Given the description of an element on the screen output the (x, y) to click on. 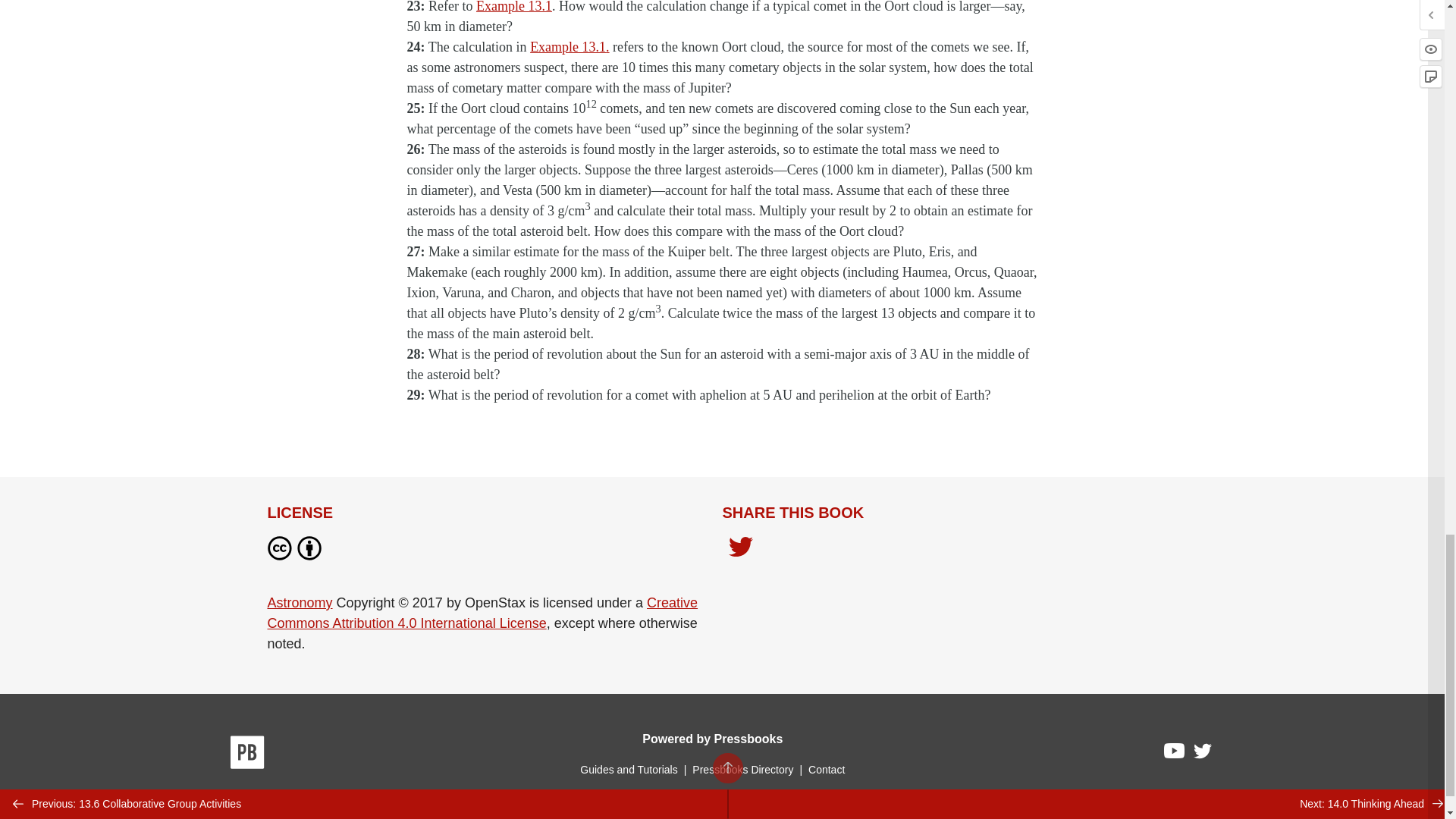
Pressbooks on YouTube (1174, 753)
. (607, 46)
Contact (826, 769)
Guides and Tutorials (627, 769)
Astronomy (298, 602)
Share on Twitter (740, 550)
Pressbooks (247, 754)
Example 13.1 (513, 6)
Pressbooks on Twitter (1202, 754)
Share on Twitter (740, 548)
Powered by Pressbooks (712, 738)
Pressbooks Directory (742, 769)
Example 13.1 (567, 46)
Creative Commons Attribution 4.0 International License (481, 612)
